Given the description of an element on the screen output the (x, y) to click on. 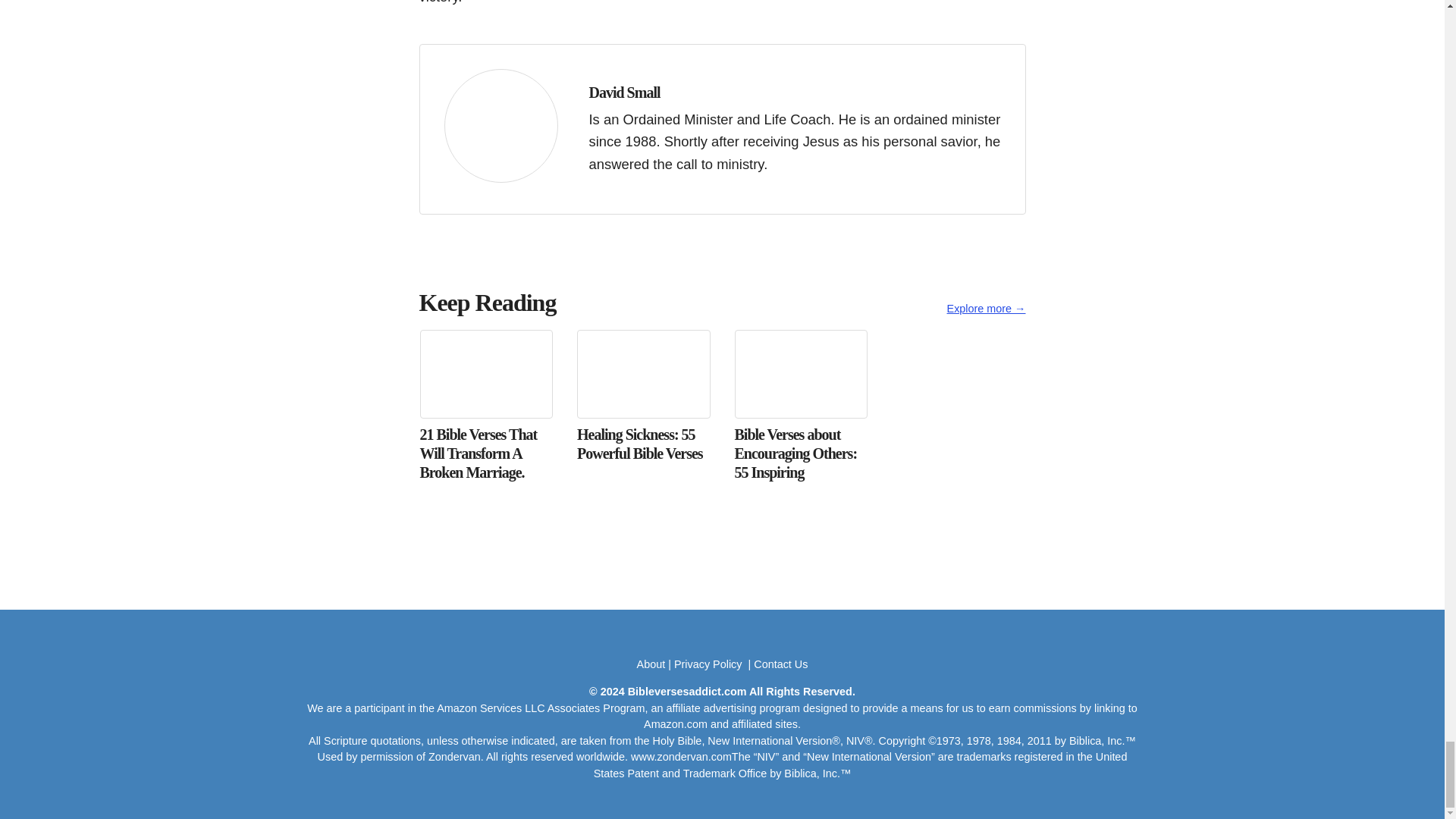
About (651, 664)
Healing Sickness: 55 Powerful Bible Verses (643, 399)
Privacy Policy (709, 664)
Contact Us (781, 664)
Healing Sickness: 55 Powerful Bible Verses (643, 399)
